Given the description of an element on the screen output the (x, y) to click on. 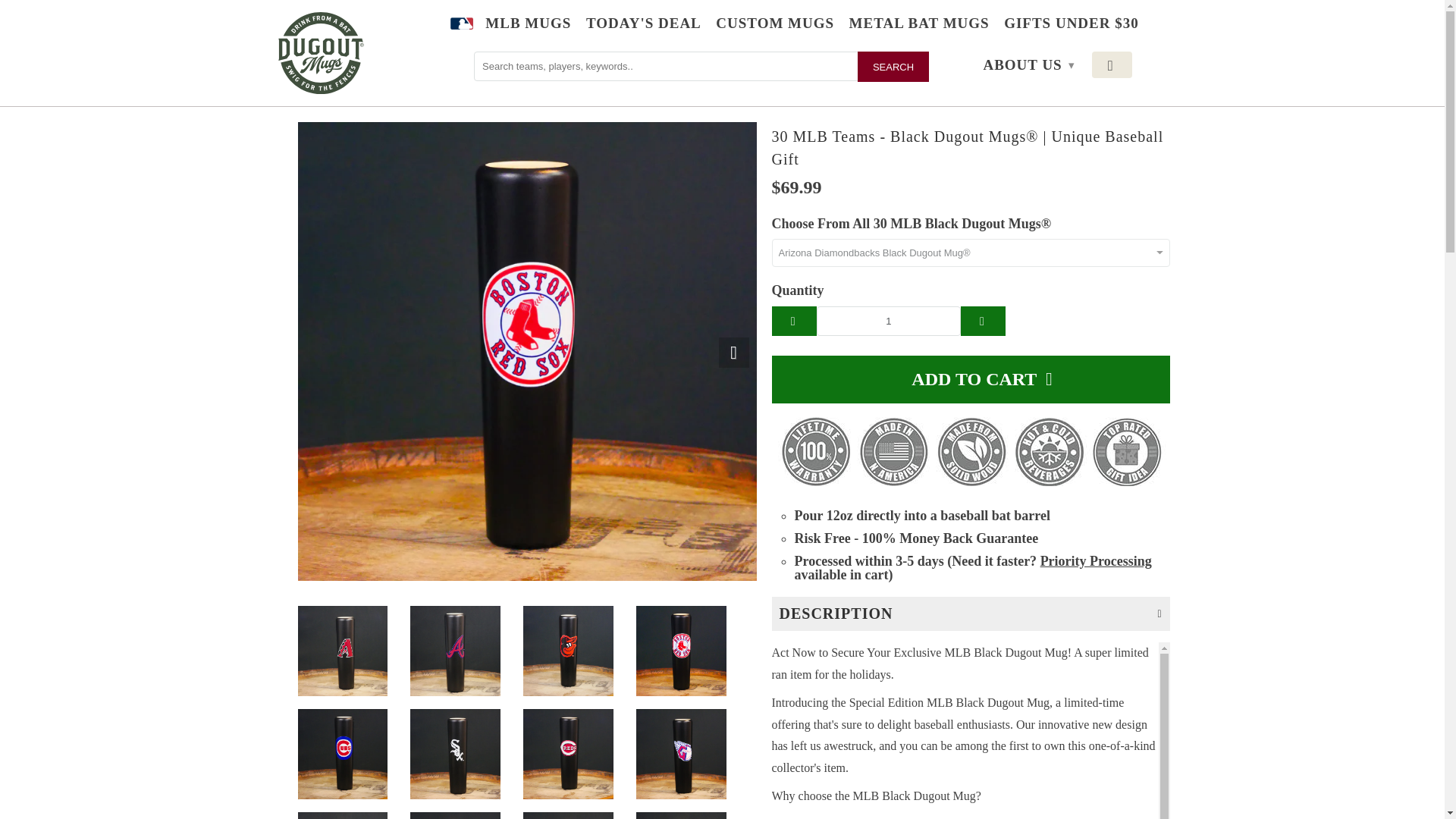
ABOUT US (1021, 65)
search (892, 66)
search (892, 66)
METAL BAT MUGS (919, 26)
search (892, 66)
CUSTOM MUGS (775, 26)
TODAY'S DEAL (643, 26)
1 (888, 320)
MLB MUGS (527, 26)
